Given the description of an element on the screen output the (x, y) to click on. 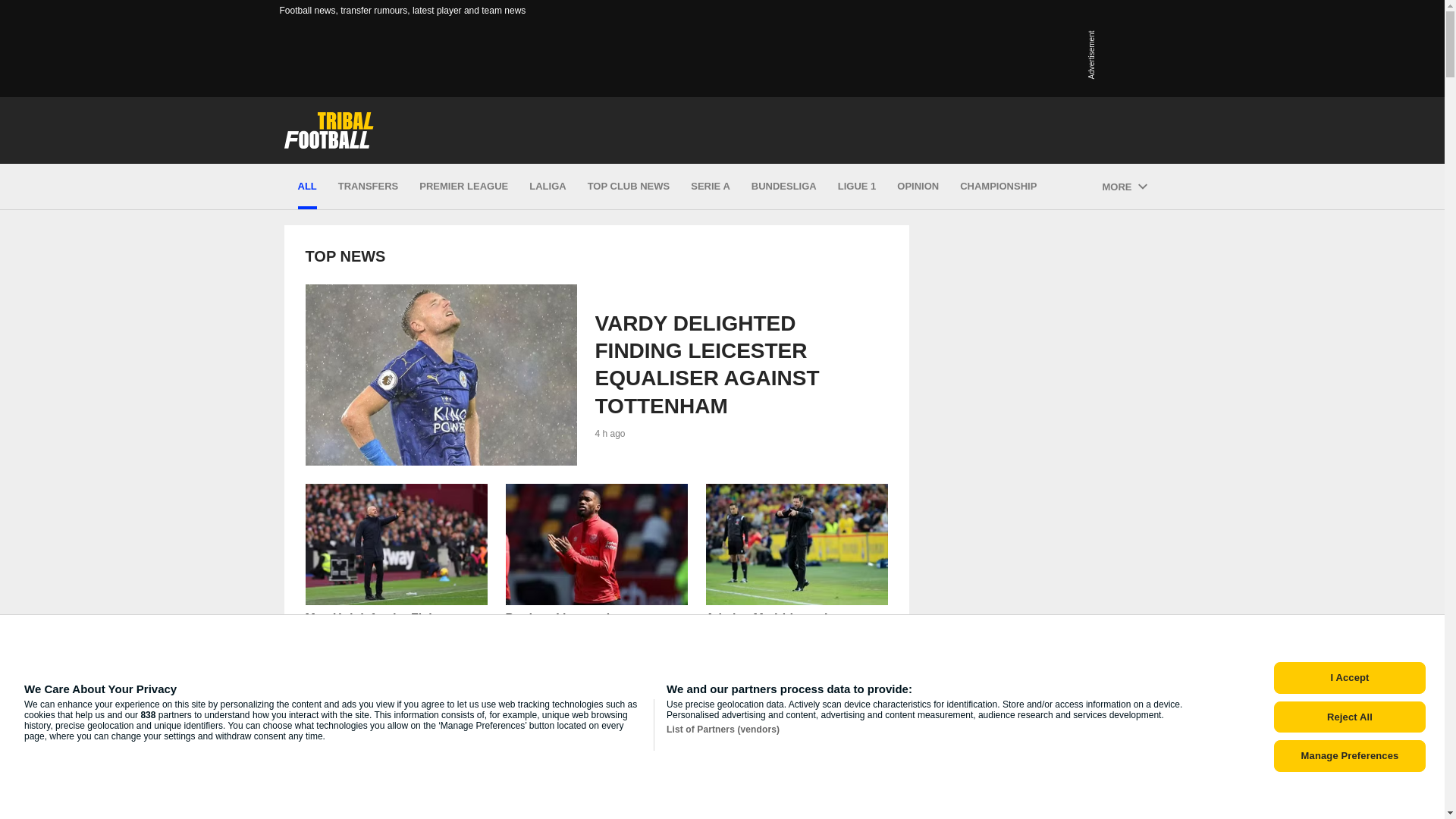
PREMIER LEAGUE (463, 186)
Pardew: I know where Brentford striker Toney wants to go (395, 581)
Man Utd defender Fish step away from Cardiff move (596, 544)
Man Utd defender Fish step away from Cardiff move (395, 581)
